Given the description of an element on the screen output the (x, y) to click on. 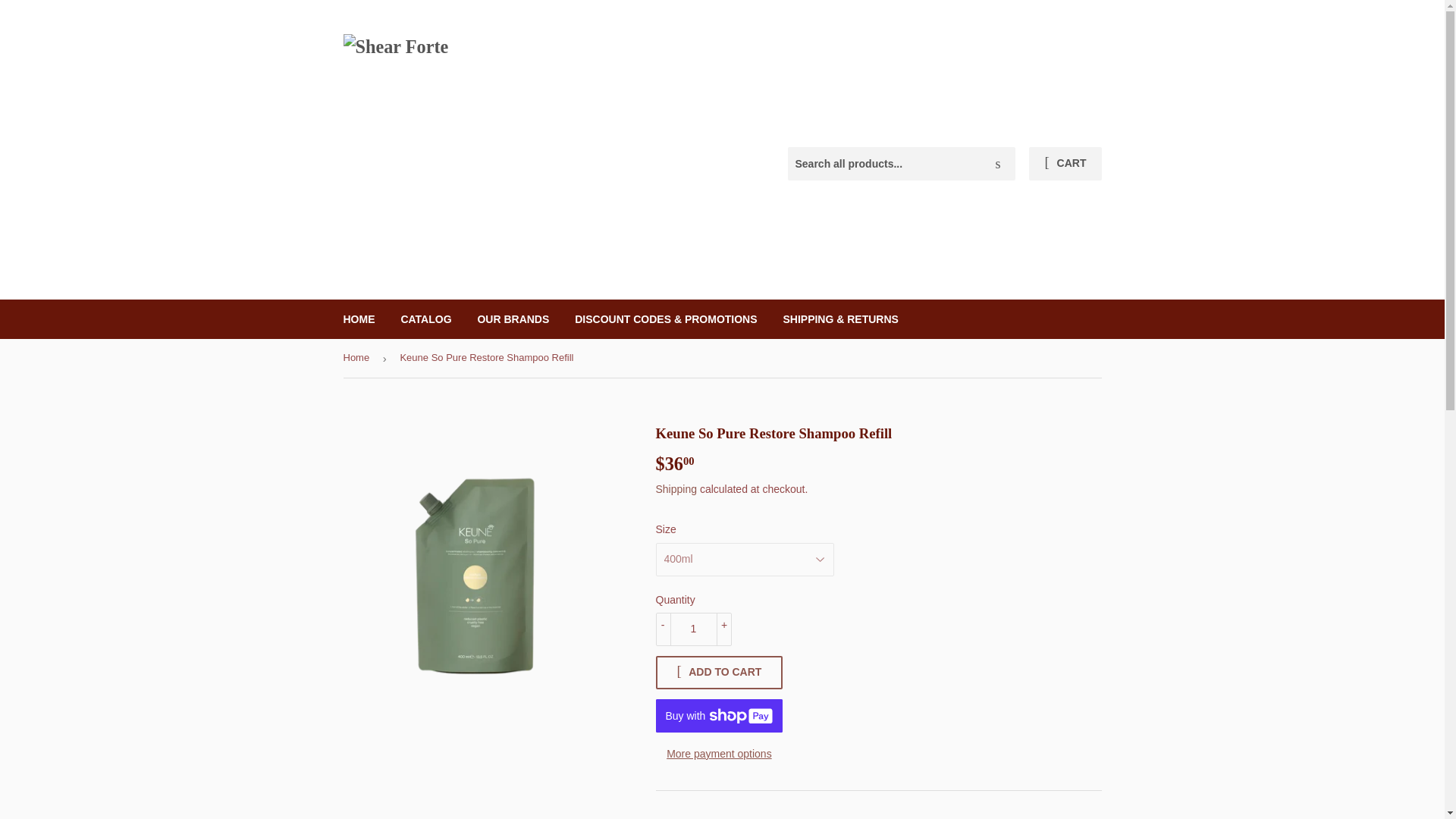
1 (692, 629)
HOME (359, 319)
Shipping (676, 489)
OUR BRANDS (512, 319)
ADD TO CART (714, 672)
CART (1064, 163)
Search (997, 164)
CATALOG (425, 319)
